Given the description of an element on the screen output the (x, y) to click on. 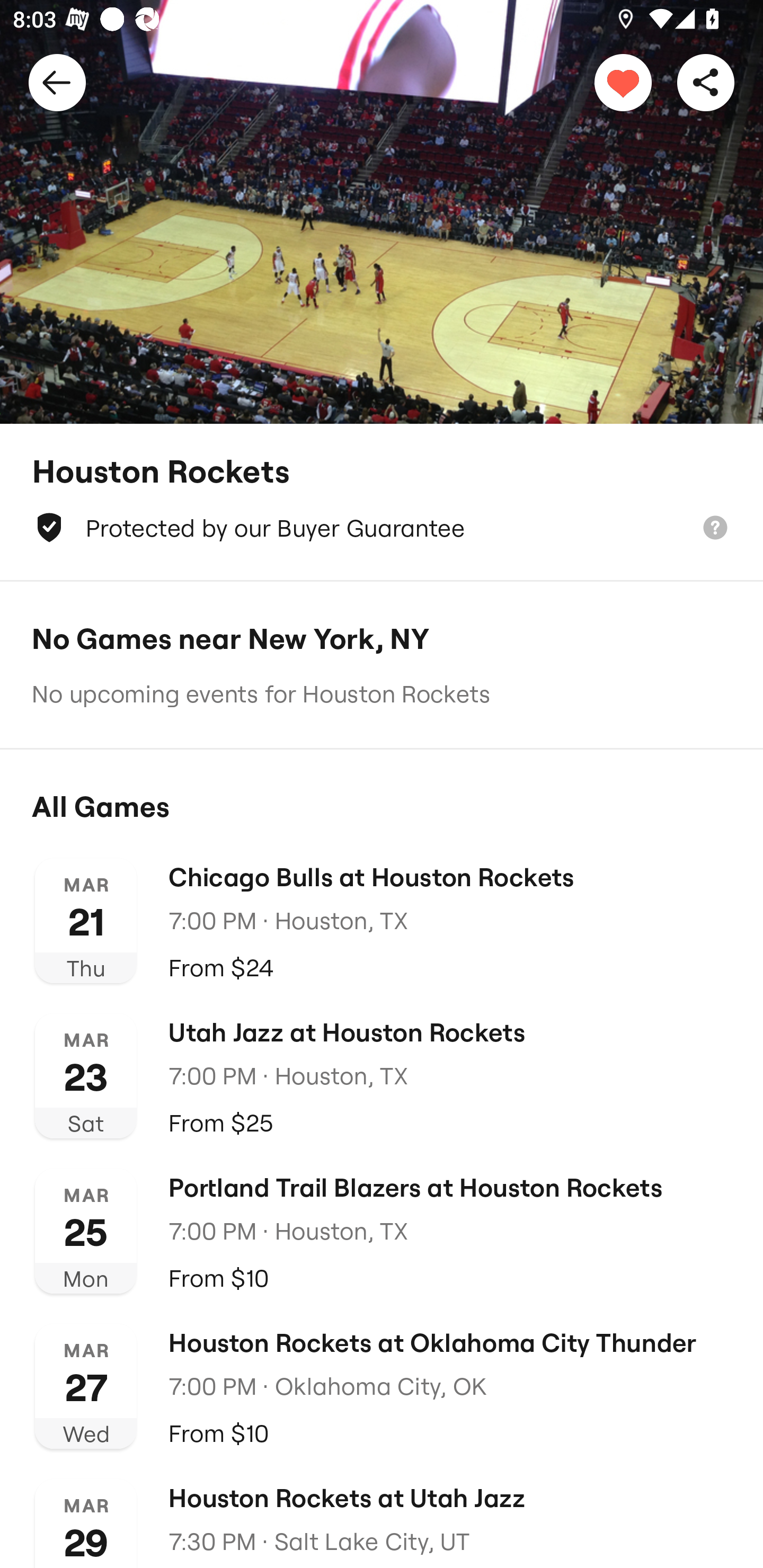
Back (57, 81)
Track this performer (623, 81)
Share this performer (705, 81)
Protected by our Buyer Guarantee Learn more (381, 527)
